Given the description of an element on the screen output the (x, y) to click on. 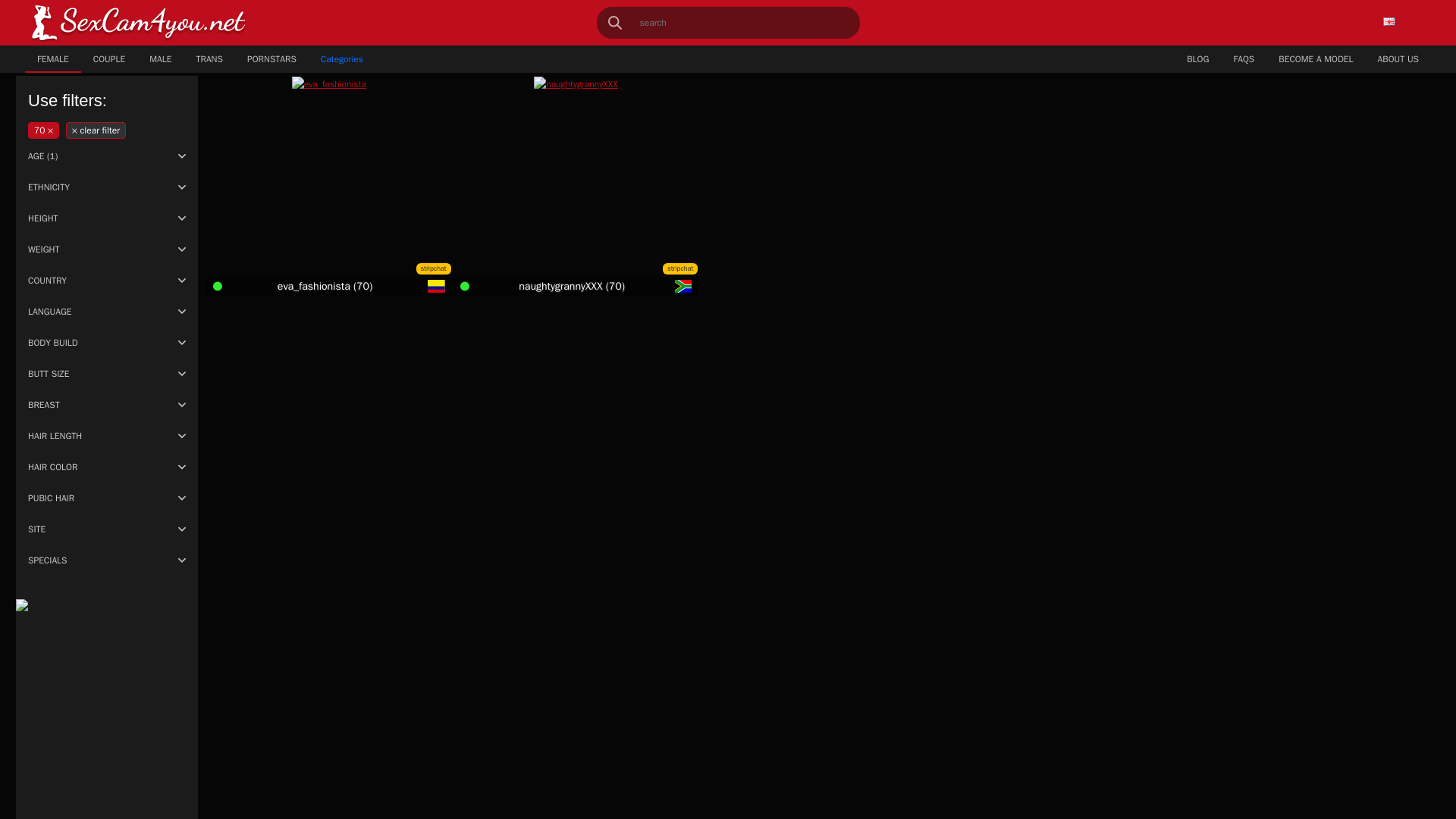
English (1388, 21)
SexCam4you.net (137, 22)
English (1407, 22)
